Given the description of an element on the screen output the (x, y) to click on. 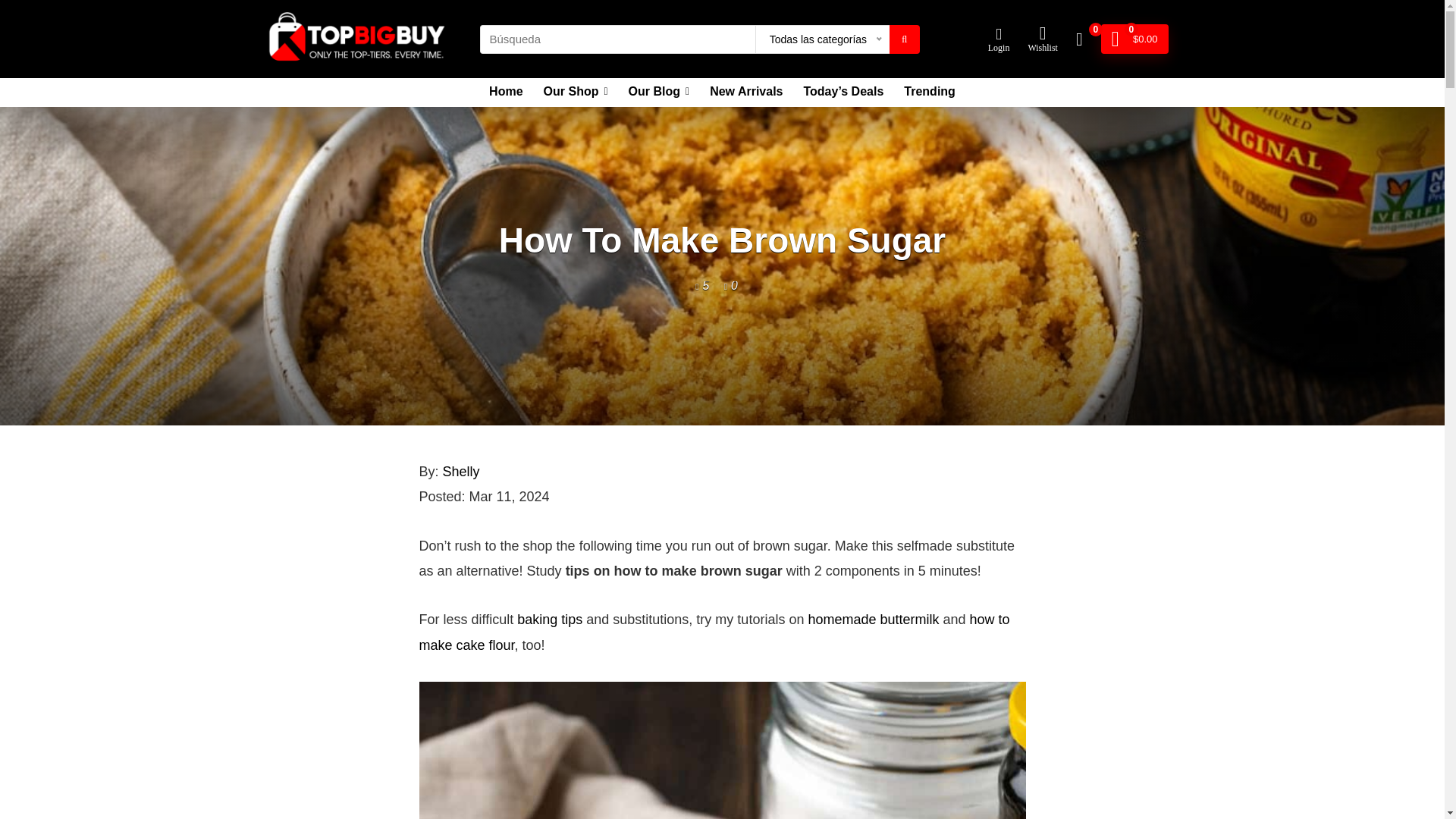
About Shelly (461, 471)
Home (505, 92)
Our Shop (575, 92)
